Given the description of an element on the screen output the (x, y) to click on. 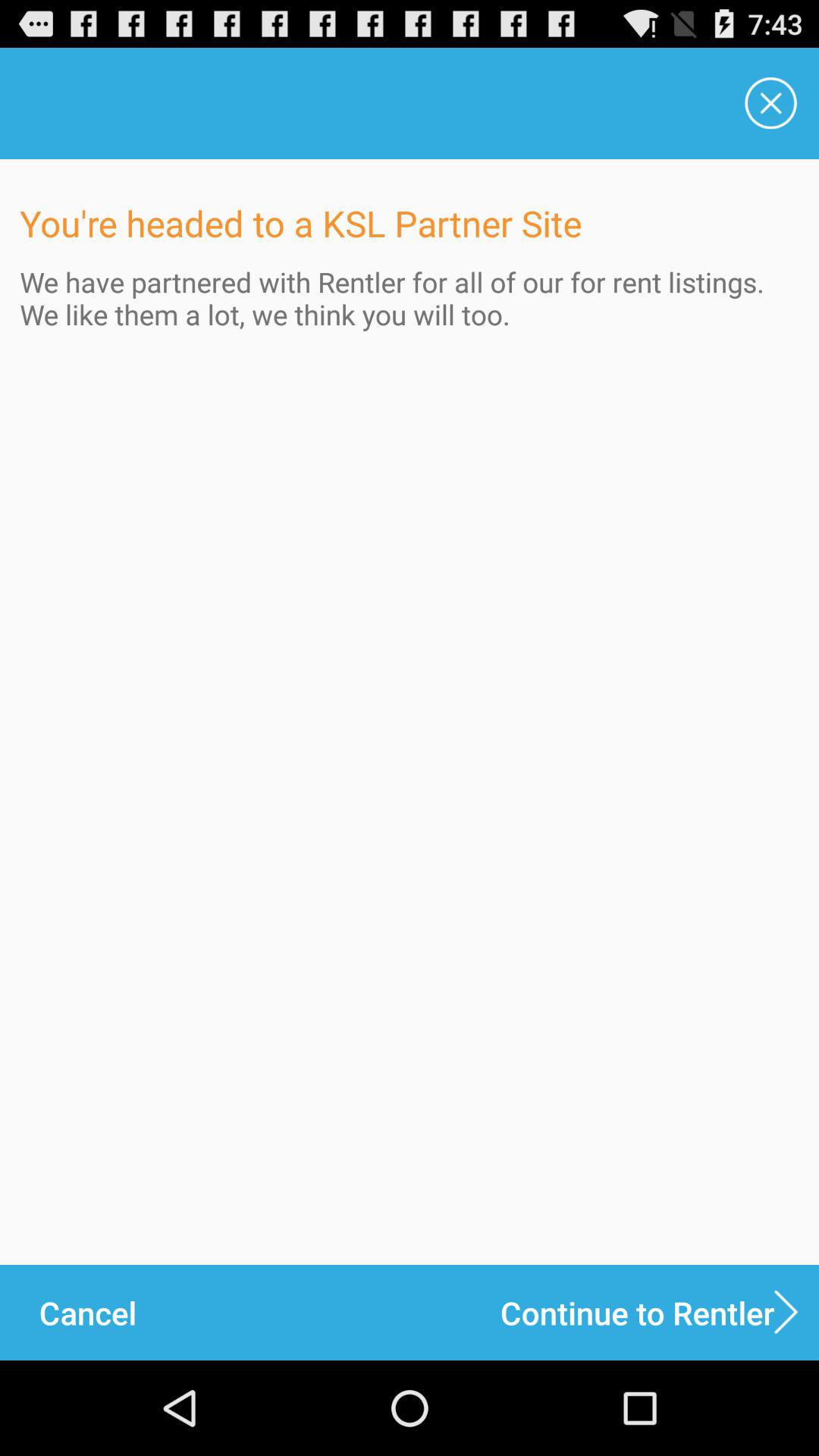
jump until continue to rentler icon (659, 1312)
